Given the description of an element on the screen output the (x, y) to click on. 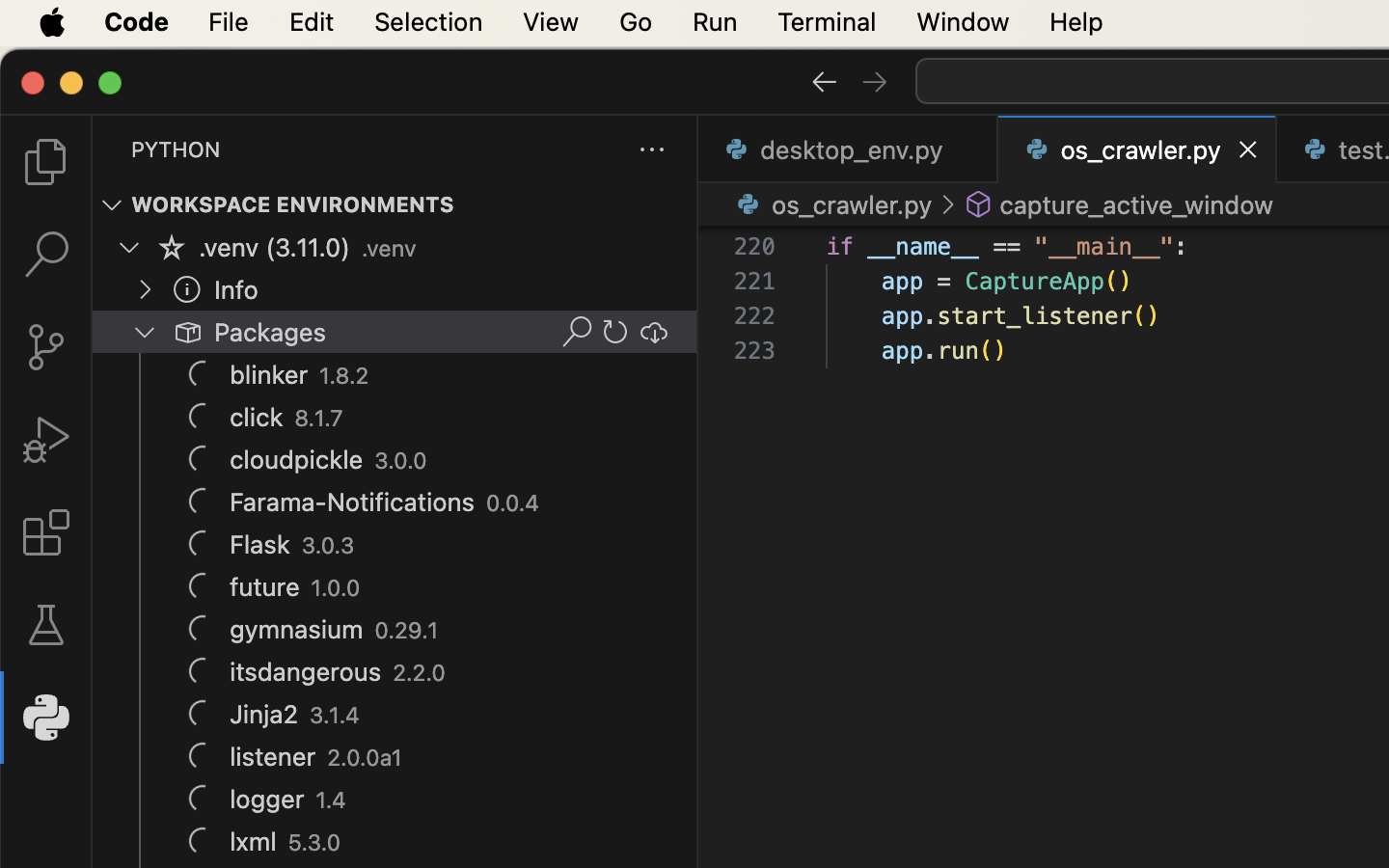
1 os_crawler.py   Element type: AXRadioButton (1138, 149)
gymnasium Element type: AXStaticText (296, 629)
 Element type: AXStaticText (186, 331)
1 Element type: AXRadioButton (46, 717)
8.1.7 Element type: AXStaticText (319, 418)
